Given the description of an element on the screen output the (x, y) to click on. 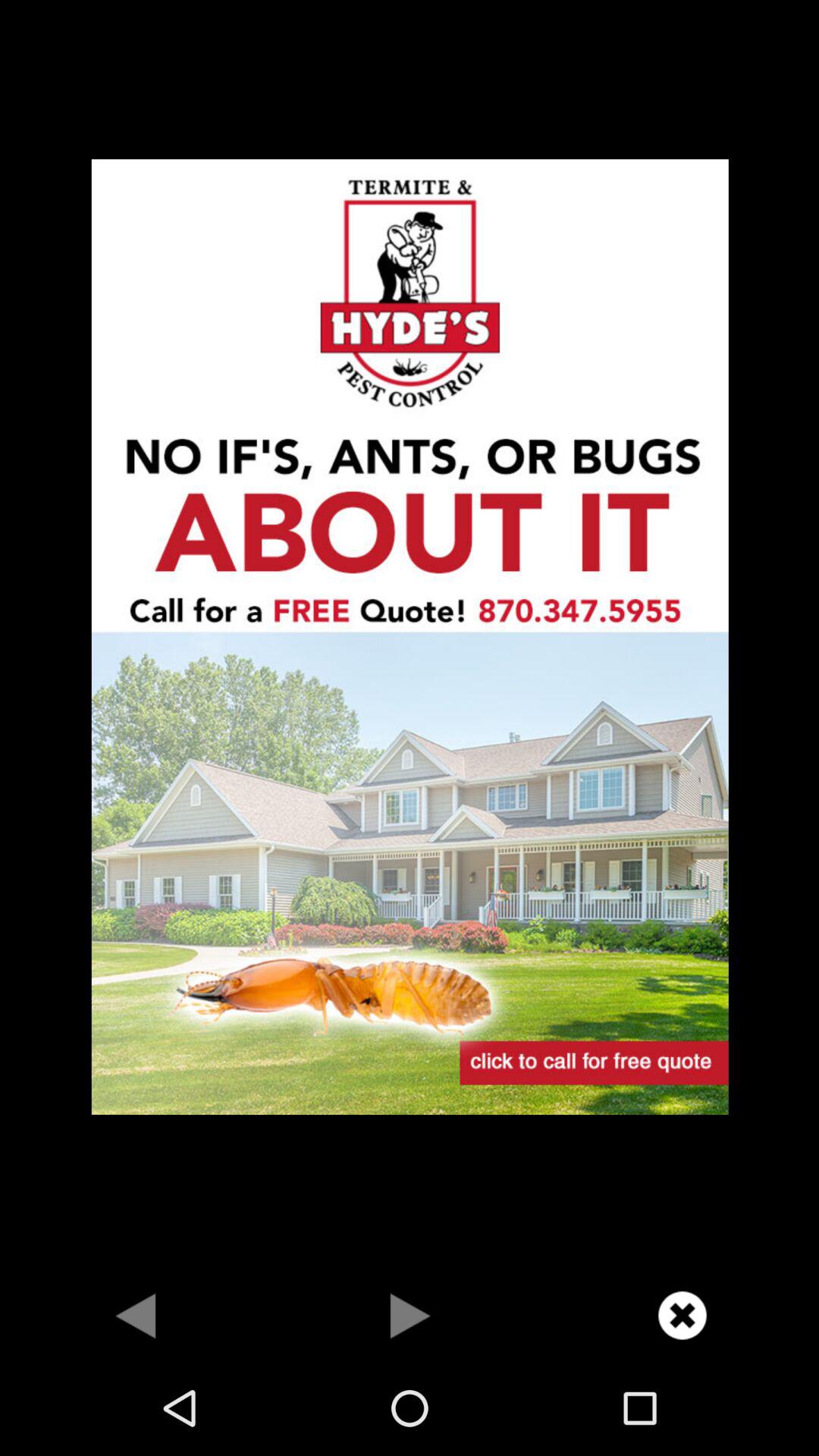
play botton (409, 1315)
